Given the description of an element on the screen output the (x, y) to click on. 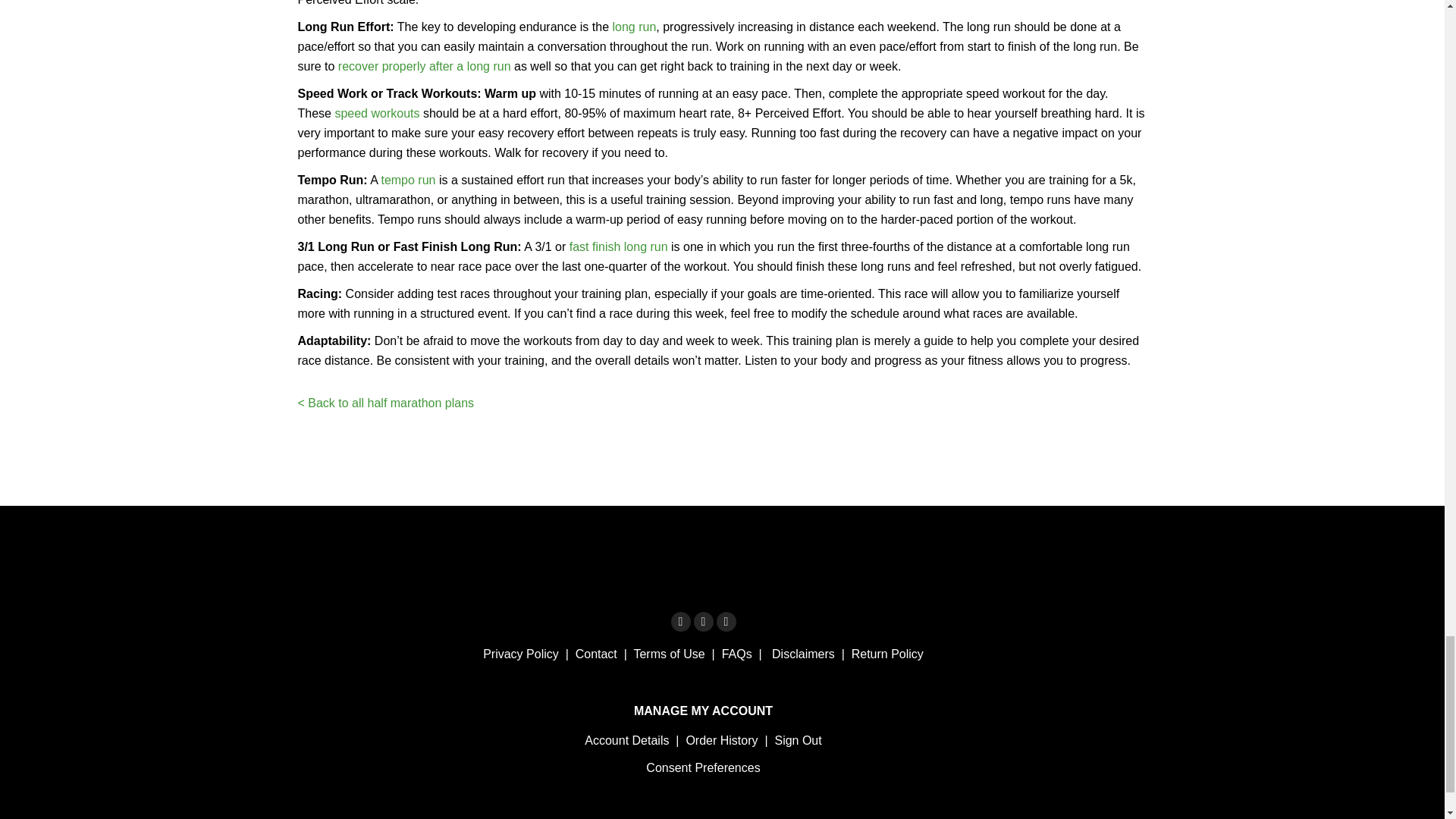
Facebook page opens in new window (679, 621)
Strava page opens in new window (725, 621)
Instagram page opens in new window (703, 621)
